Given the description of an element on the screen output the (x, y) to click on. 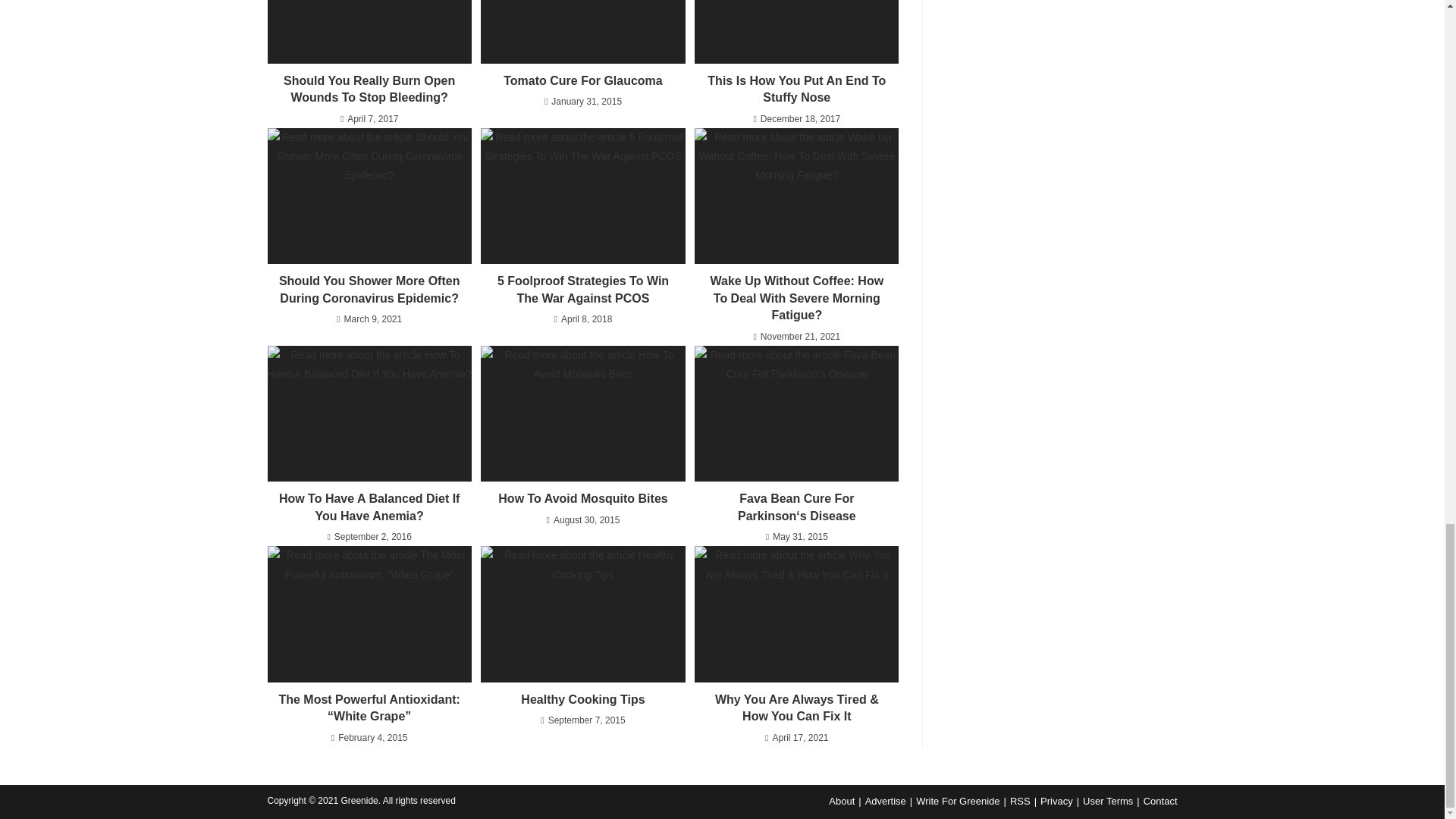
5 Foolproof Strategies To Win The War Against PCOS (582, 289)
Should You Really Burn Open Wounds To Stop Bleeding? (368, 89)
How To Have A Balanced Diet If You Have Anemia? (368, 507)
This Is How You Put An End To Stuffy Nose (796, 89)
Should You Shower More Often During Coronavirus Epidemic? (368, 289)
